Given the description of an element on the screen output the (x, y) to click on. 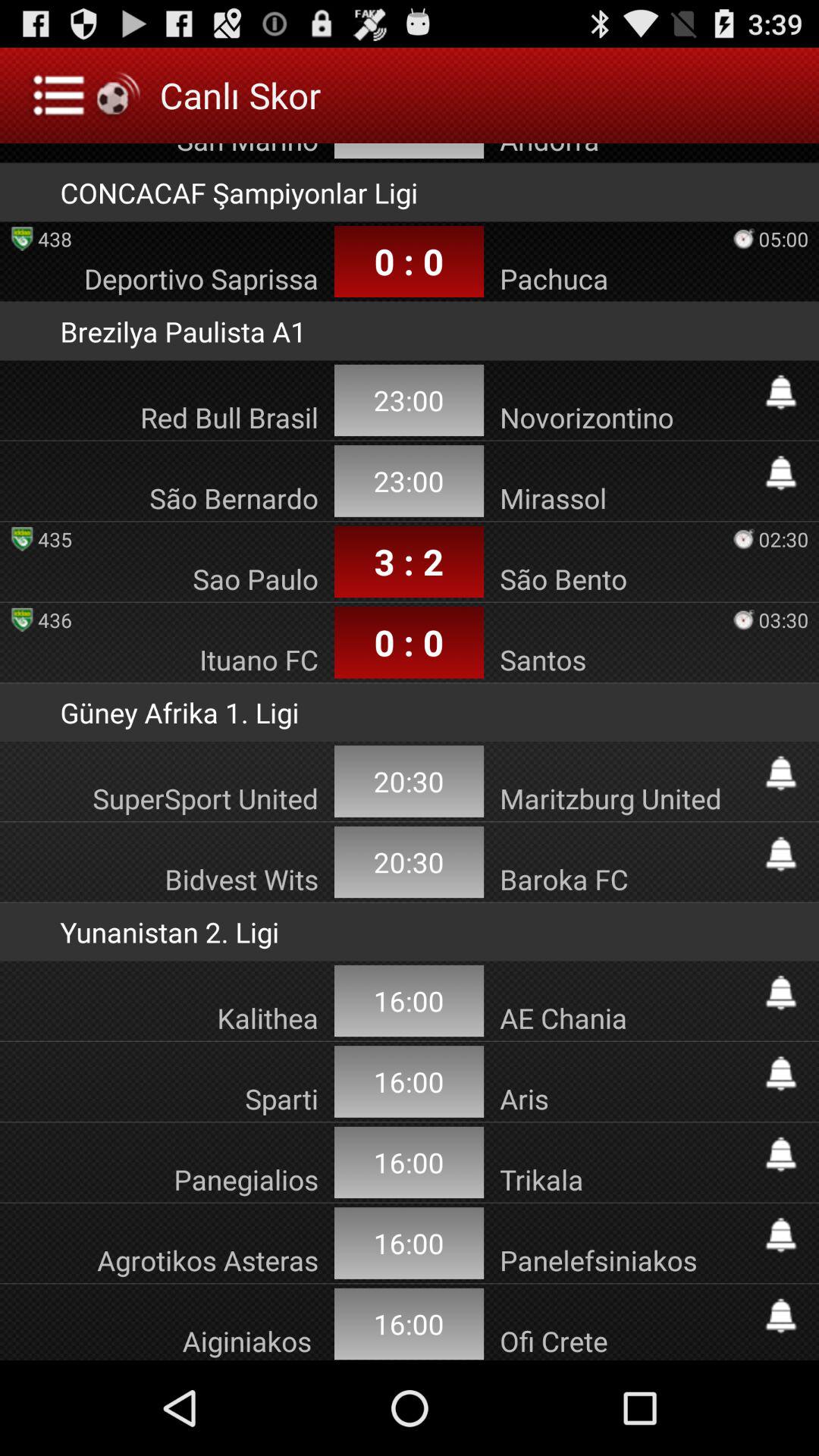
turn on notifications (780, 473)
